Given the description of an element on the screen output the (x, y) to click on. 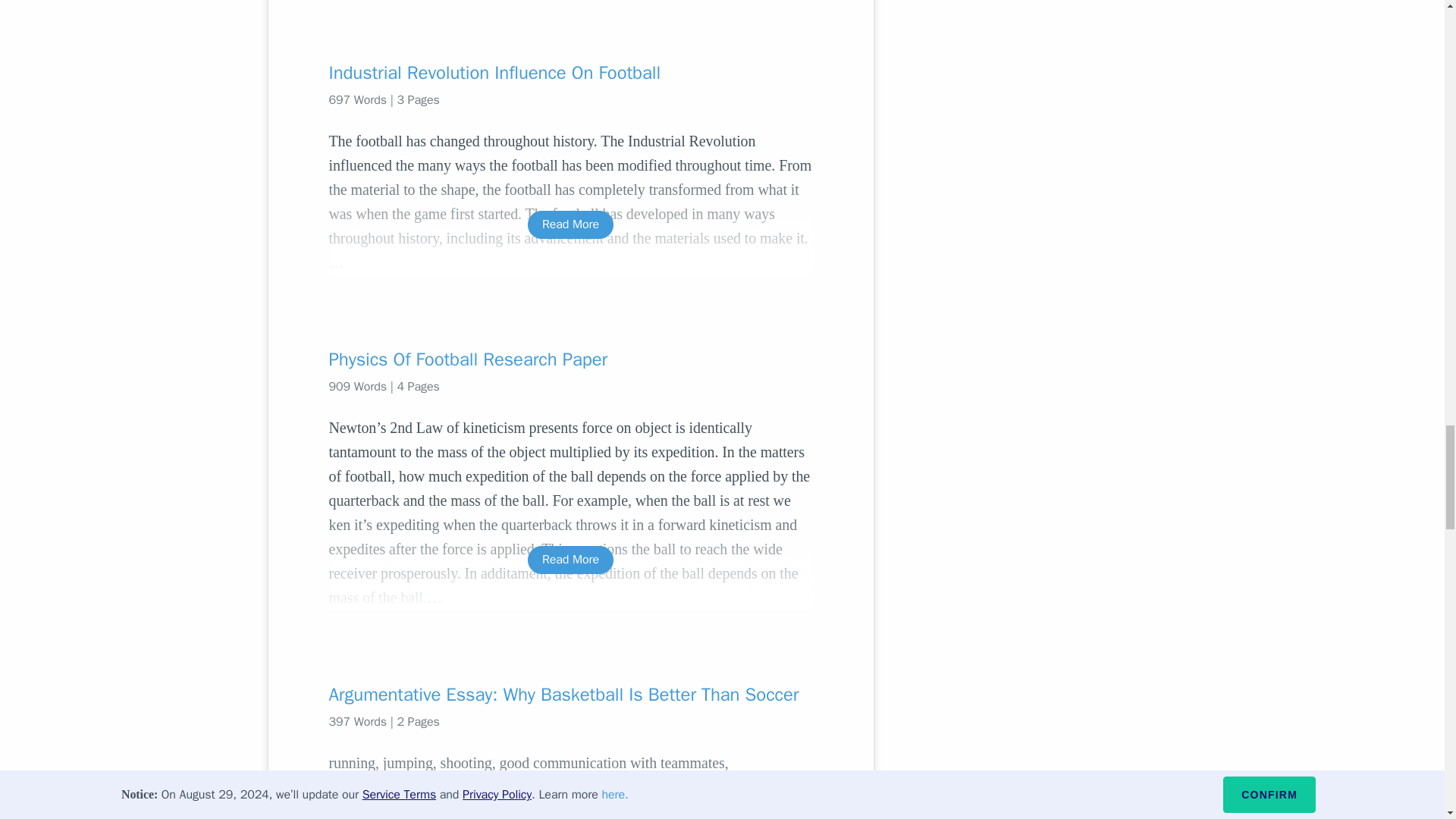
Physics Of Football Research Paper (570, 359)
Argumentative Essay: Why Basketball Is Better Than Soccer (570, 694)
Read More (569, 560)
Read More (569, 224)
Read More (569, 797)
Industrial Revolution Influence On Football (570, 72)
